Given the description of an element on the screen output the (x, y) to click on. 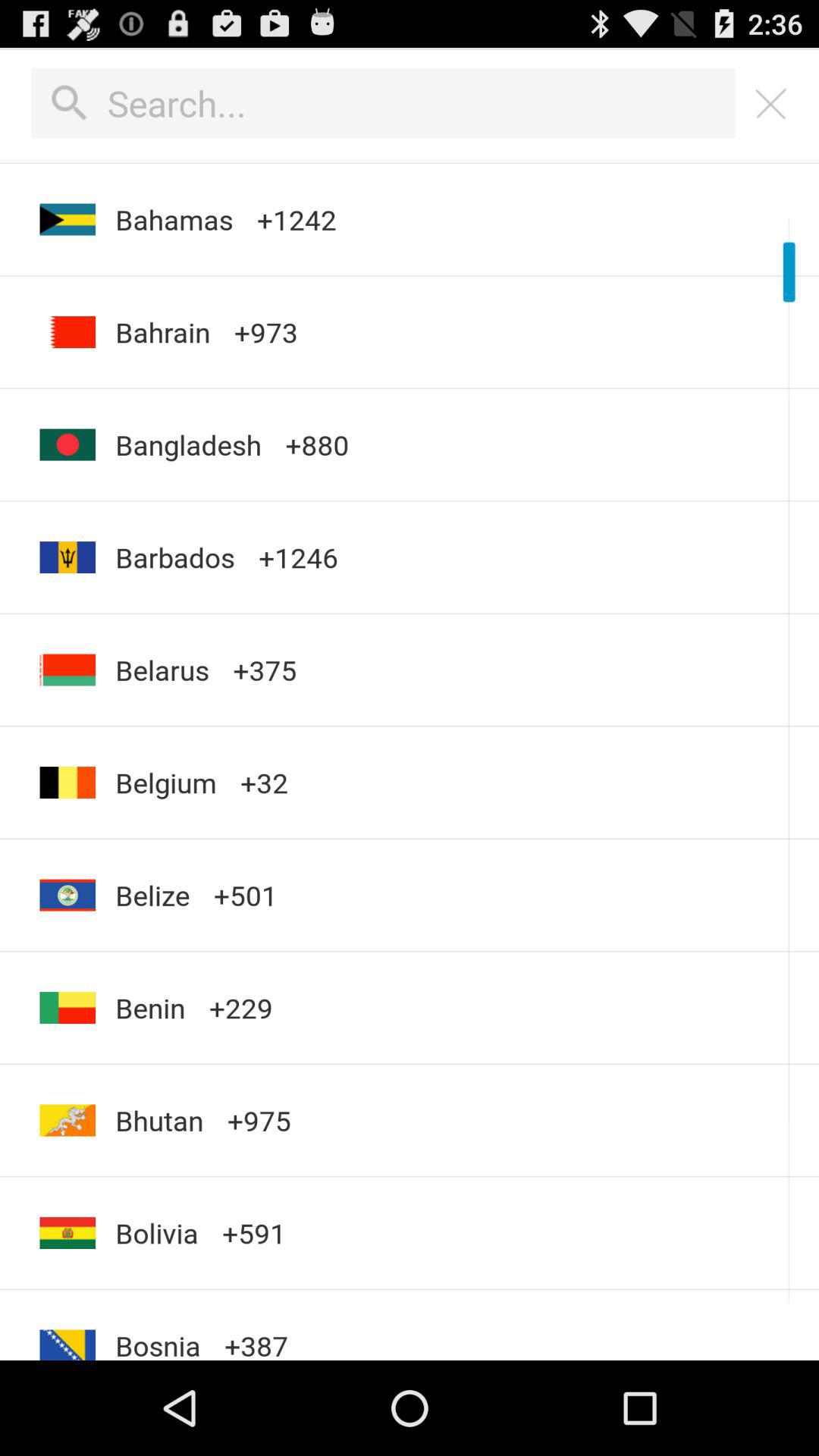
click on the icon at the right top of the page (771, 103)
